Given the description of an element on the screen output the (x, y) to click on. 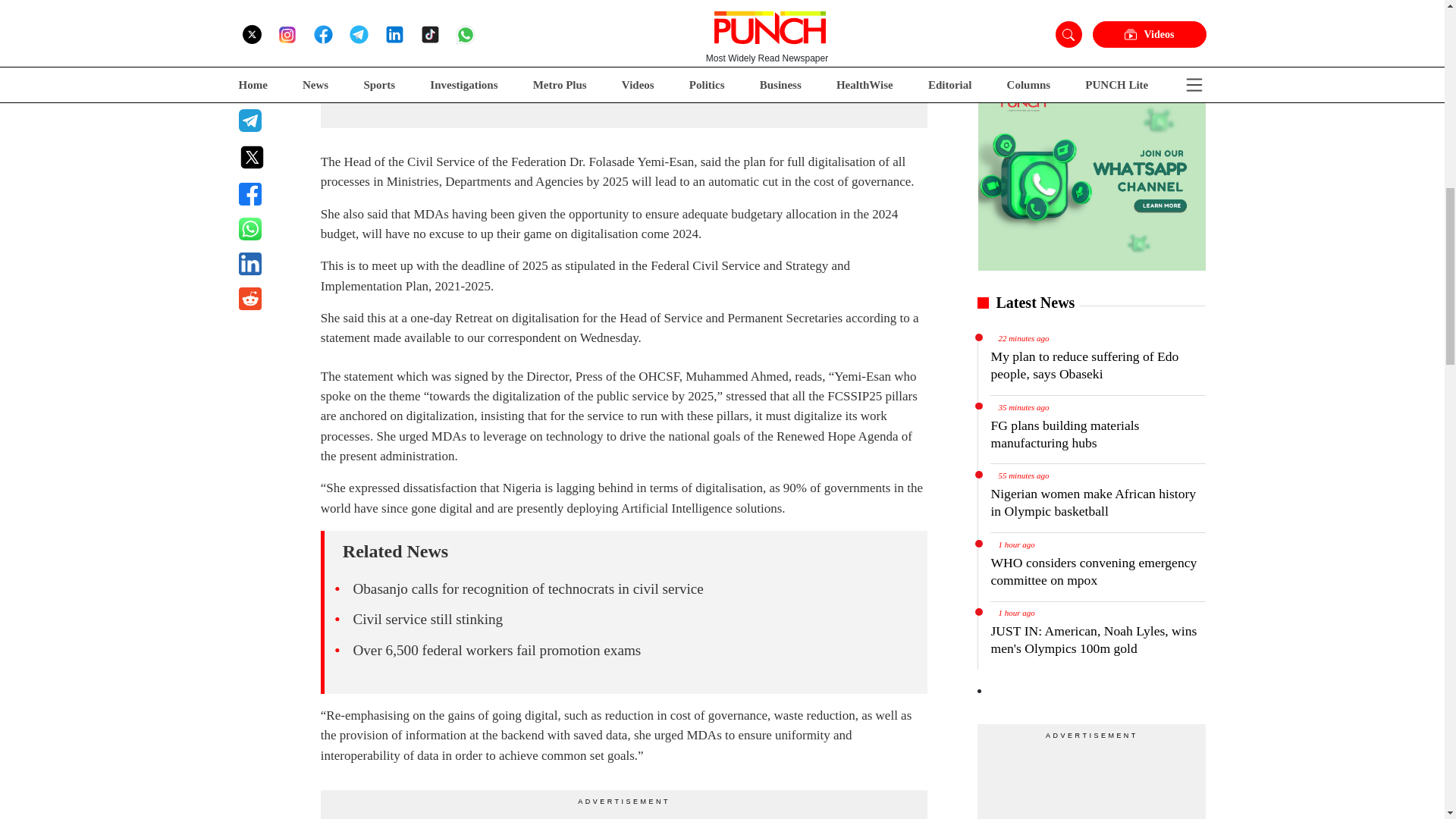
Advertisement (1090, 780)
